Given the description of an element on the screen output the (x, y) to click on. 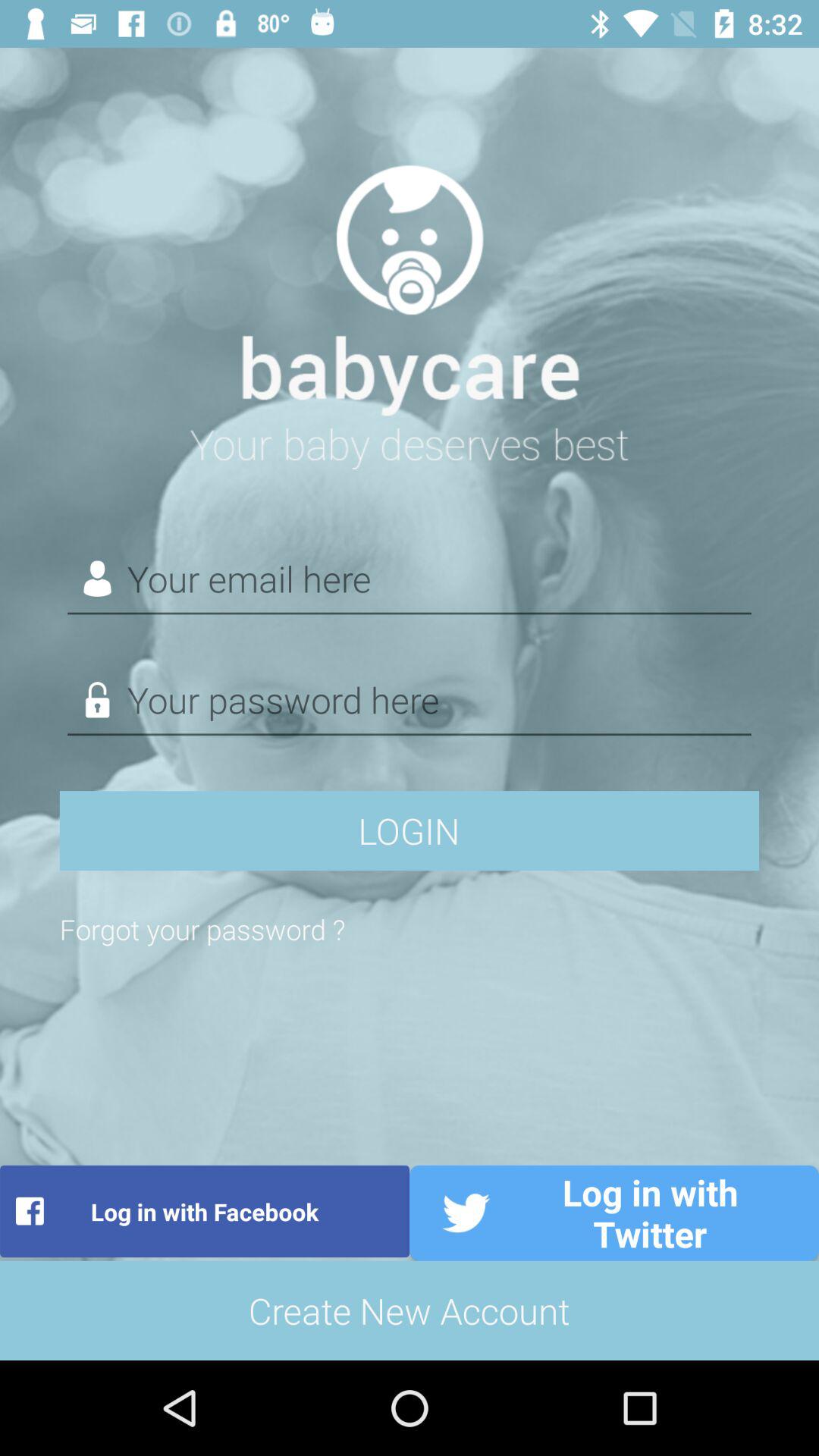
see an image (409, 308)
